Given the description of an element on the screen output the (x, y) to click on. 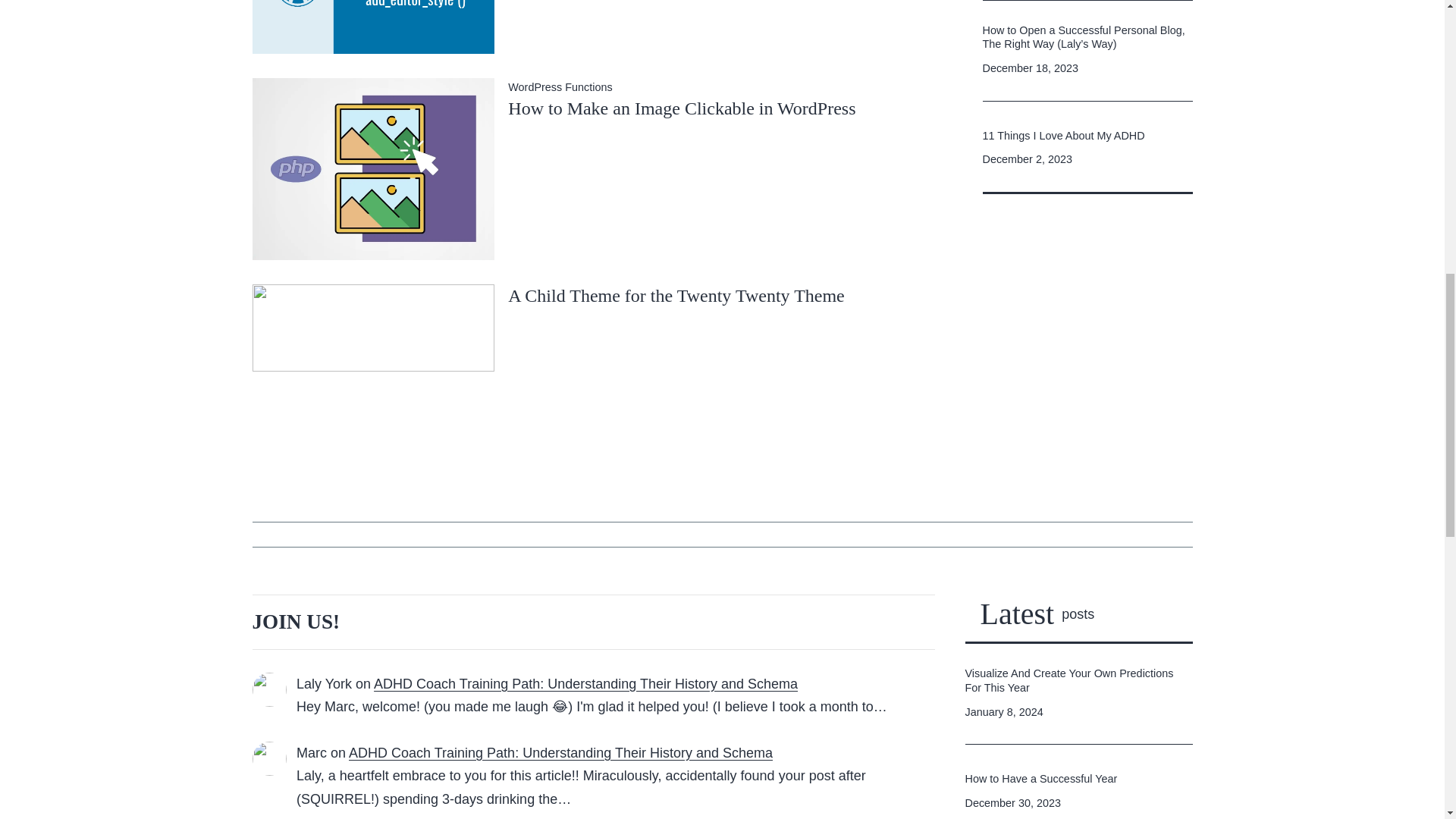
11 Things I Love About My ADHD (1063, 135)
A Child Theme for the Twenty Twenty Theme (373, 355)
A Child Theme for the Twenty Twenty Theme (676, 295)
How to Make an Image Clickable in WordPress (682, 107)
Laly York (324, 683)
How to Make an Image Clickable in WordPress (682, 107)
How to Make an Image Clickable in WordPress (373, 167)
A Child Theme for the Twenty Twenty Theme (676, 295)
